Given the description of an element on the screen output the (x, y) to click on. 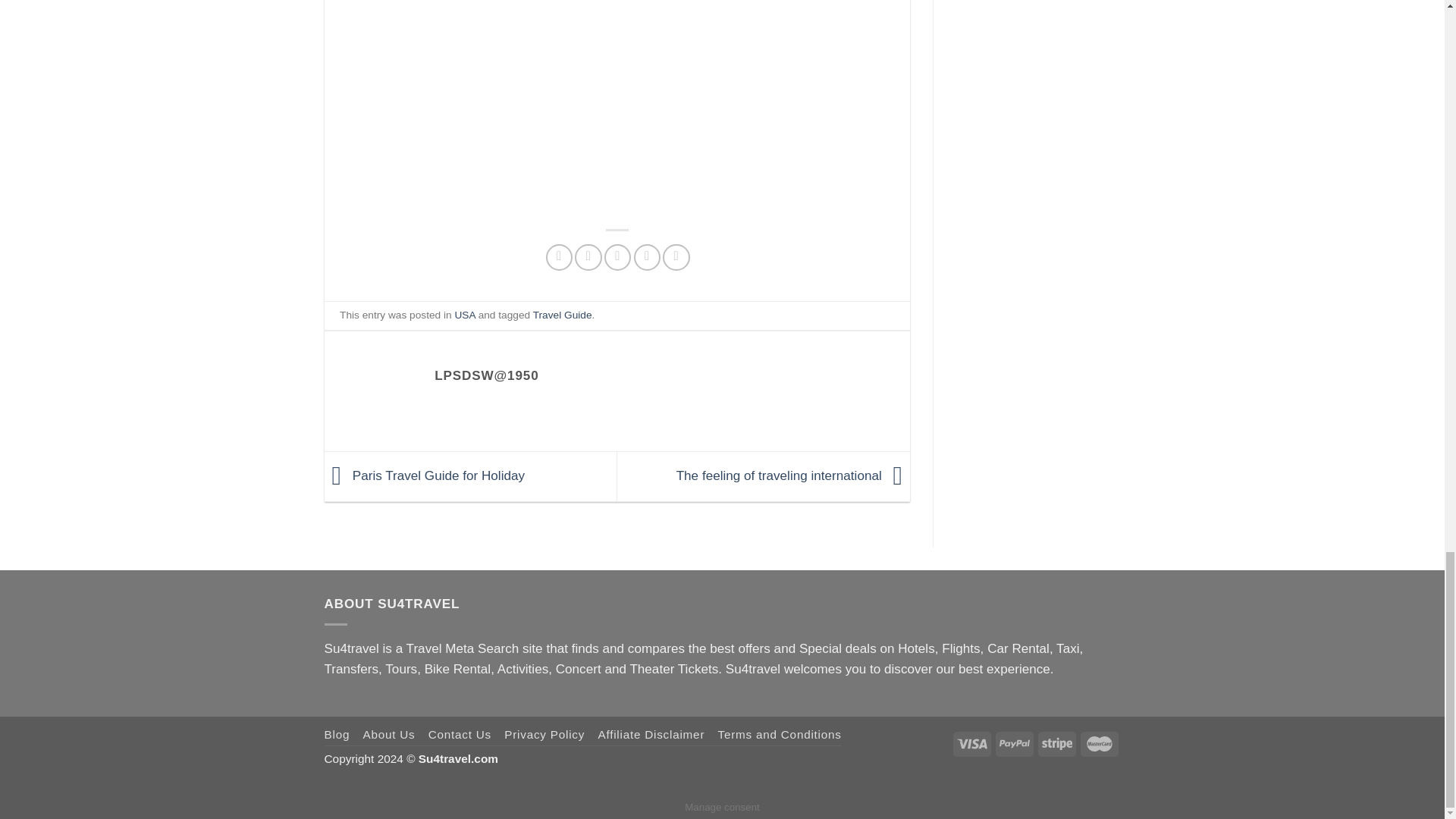
USA (464, 315)
Pin on Pinterest (647, 257)
Share on LinkedIn (675, 257)
Share on Twitter (588, 257)
Share on Facebook (559, 257)
Email to a Friend (617, 257)
